Given the description of an element on the screen output the (x, y) to click on. 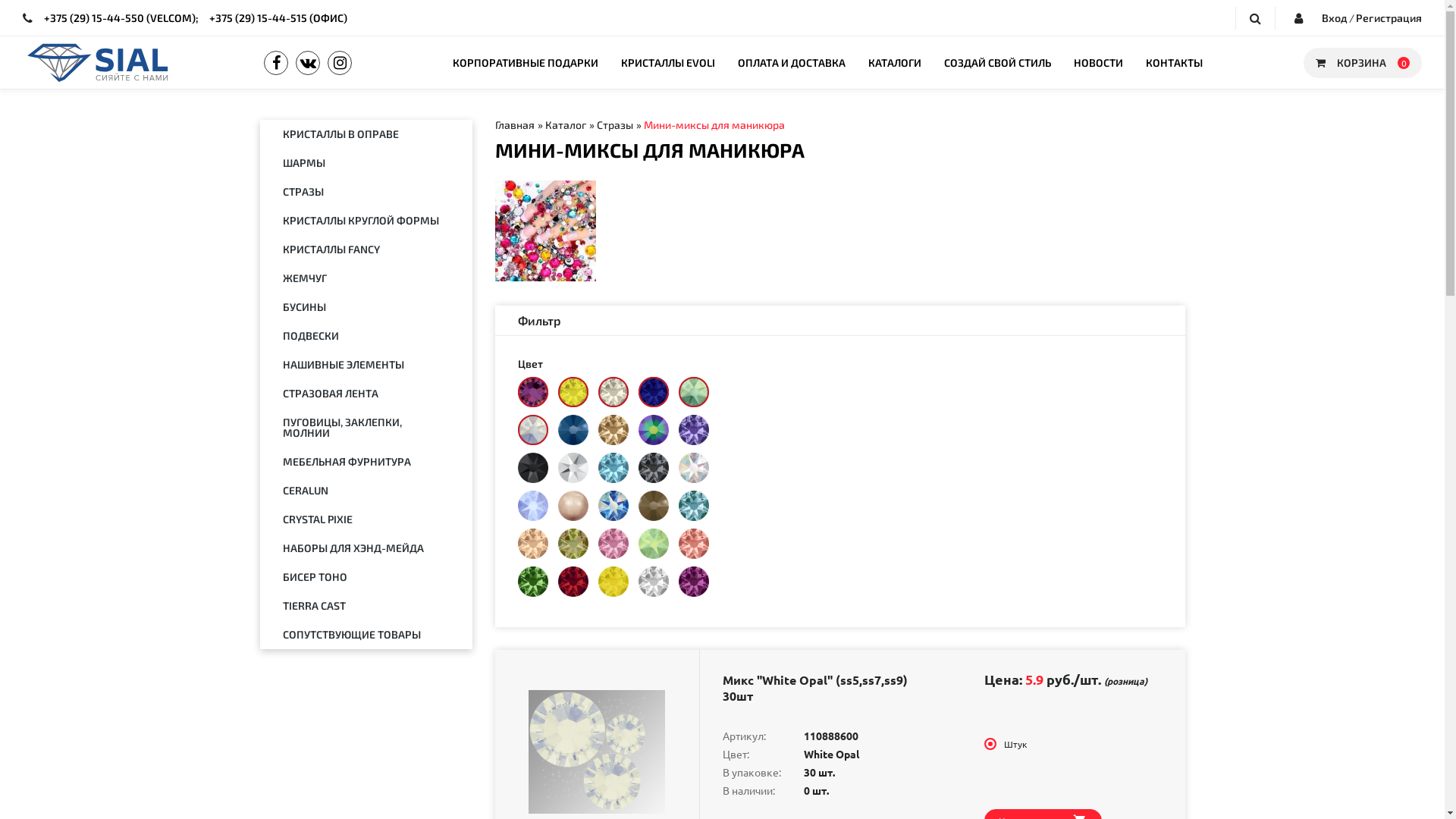
Crystal AB Element type: hover (692, 467)
Citrine Element type: hover (573, 391)
Silk Element type: hover (532, 543)
CERALUN Element type: text (365, 490)
Crystal Element type: hover (653, 581)
Light Rose Element type: hover (612, 543)
Crystal Volcano Element type: hover (532, 391)
Cobalt Element type: hover (653, 391)
Light Chrome Element type: hover (573, 467)
Fern Green Element type: hover (532, 581)
Silver Night Element type: hover (653, 467)
Crystal Rose Gold Pearl Element type: hover (573, 505)
CRYSTAL PIXIE Element type: text (365, 519)
Scarabeus Green Element type: hover (653, 429)
Crystal Metallic  Light Gold Element type: hover (653, 505)
Tanzanite Element type: hover (692, 429)
Sapphire AB Element type: hover (612, 505)
Fuchsia Element type: hover (692, 581)
Crystal Luminous Green Element type: hover (573, 543)
TIERRA CAST Element type: text (365, 605)
Rose Peach Element type: hover (692, 543)
Chrysolite Opal Element type: hover (653, 543)
Moonlight Element type: hover (612, 391)
Pacific Opal Element type: hover (692, 391)
Yellow Opal Element type: hover (612, 581)
Golden Shadow Element type: hover (612, 429)
+375 (29) 15-44-550 (VELCOM); Element type: text (120, 16)
Jet Element type: hover (532, 467)
Light Turquoise Element type: hover (692, 505)
Crystal Metallic Blue Element type: hover (573, 429)
Air Blue Opal Element type: hover (532, 505)
Aquamarine Element type: hover (612, 467)
Light Siam Element type: hover (573, 581)
White Opal Element type: hover (532, 429)
